Given the description of an element on the screen output the (x, y) to click on. 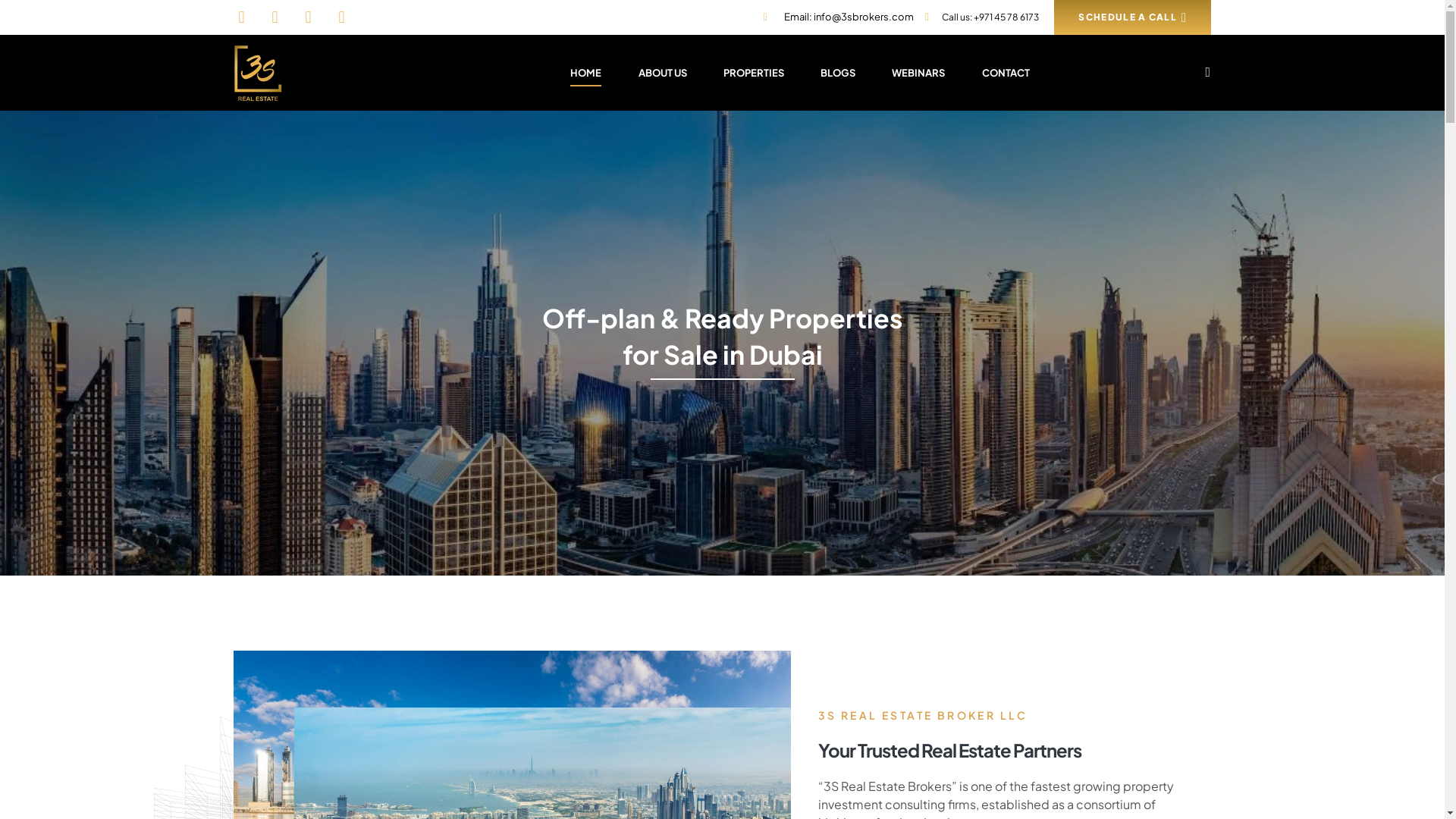
SCHEDULE A CALL Element type: text (1132, 17)
CONTACT Element type: text (1005, 72)
HOME Element type: text (585, 72)
PROPERTIES Element type: text (753, 72)
BLOGS Element type: text (837, 72)
WEBINARS Element type: text (918, 72)
ABOUT US Element type: text (662, 72)
